Given the description of an element on the screen output the (x, y) to click on. 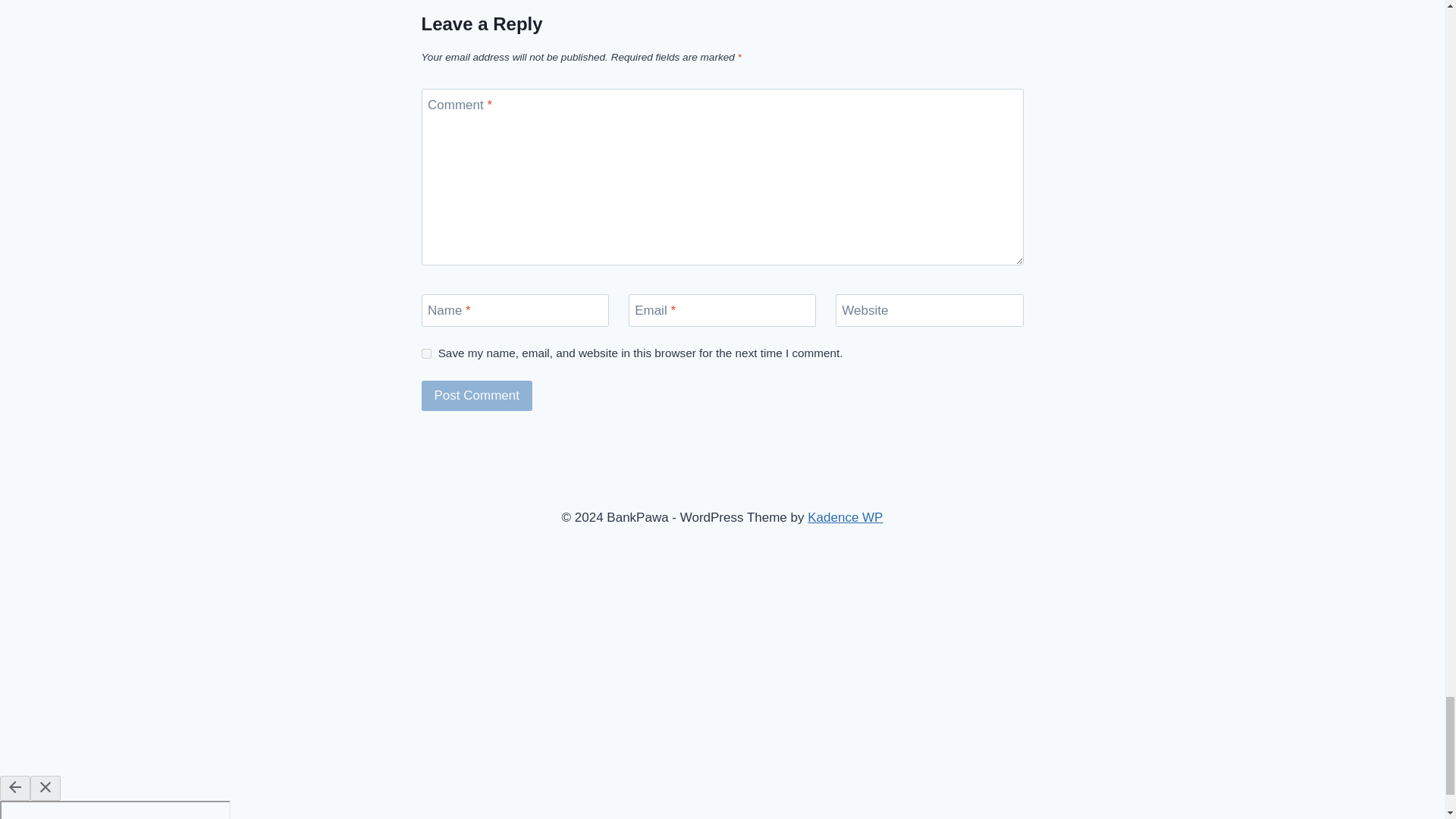
yes (426, 353)
Post Comment (477, 395)
